Given the description of an element on the screen output the (x, y) to click on. 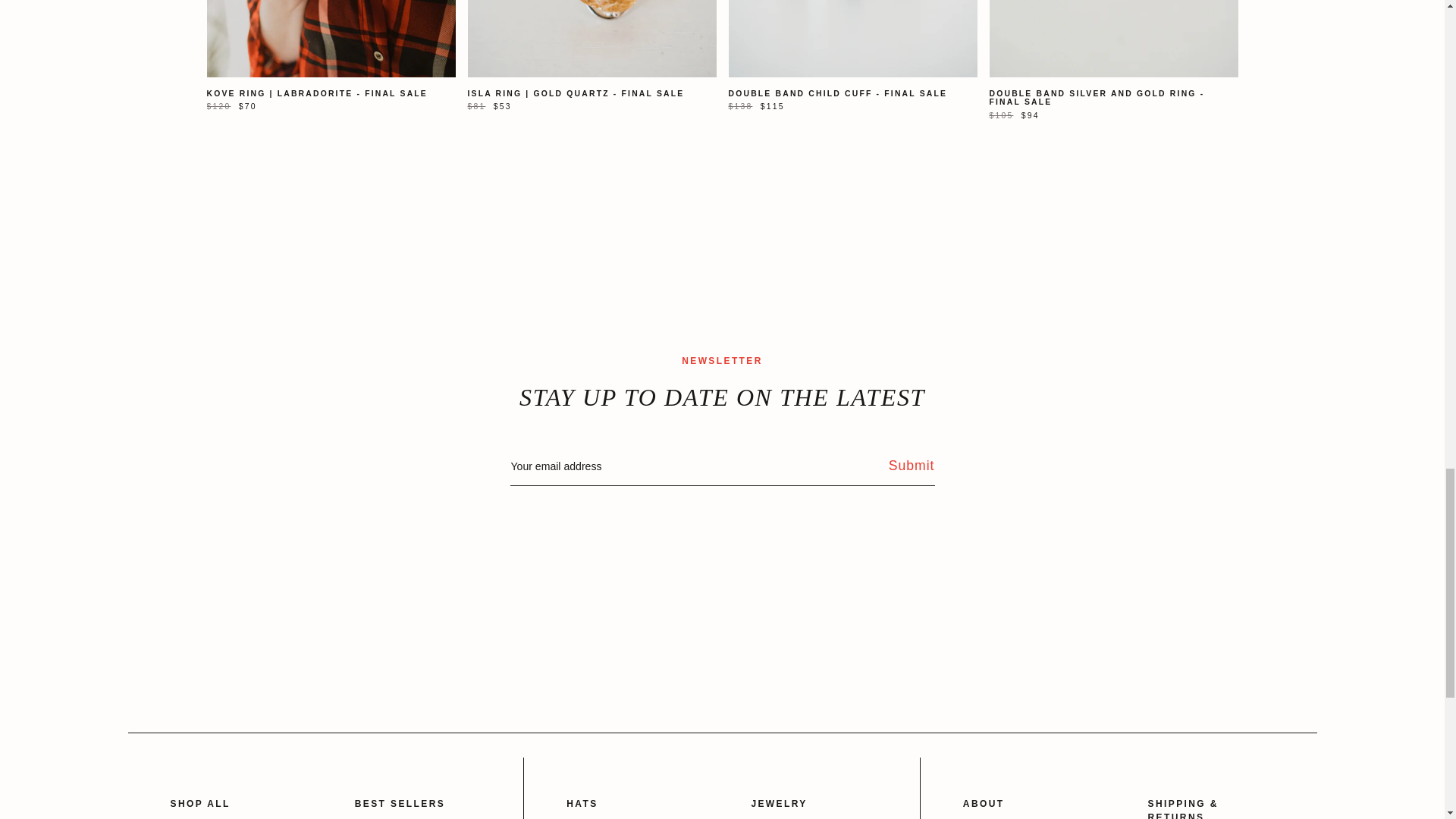
LOW STOCK (330, 38)
